Given the description of an element on the screen output the (x, y) to click on. 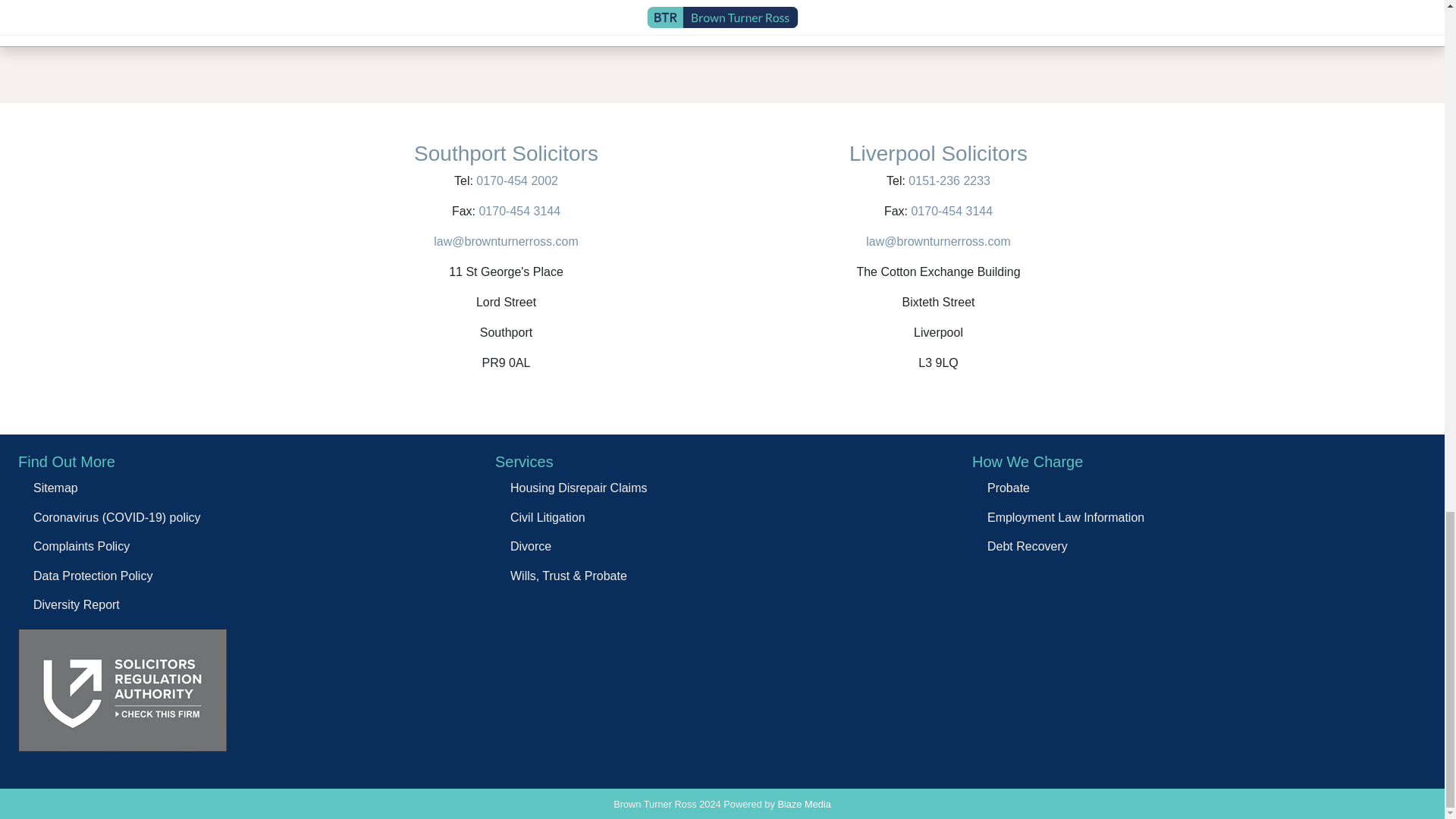
0170-454 2002 (515, 180)
Liverpool Solicitors (937, 153)
0151-236 2233 (947, 180)
0170-454 3144 (949, 210)
0170-454 3144 (519, 210)
Southport Solicitors (505, 153)
